Given the description of an element on the screen output the (x, y) to click on. 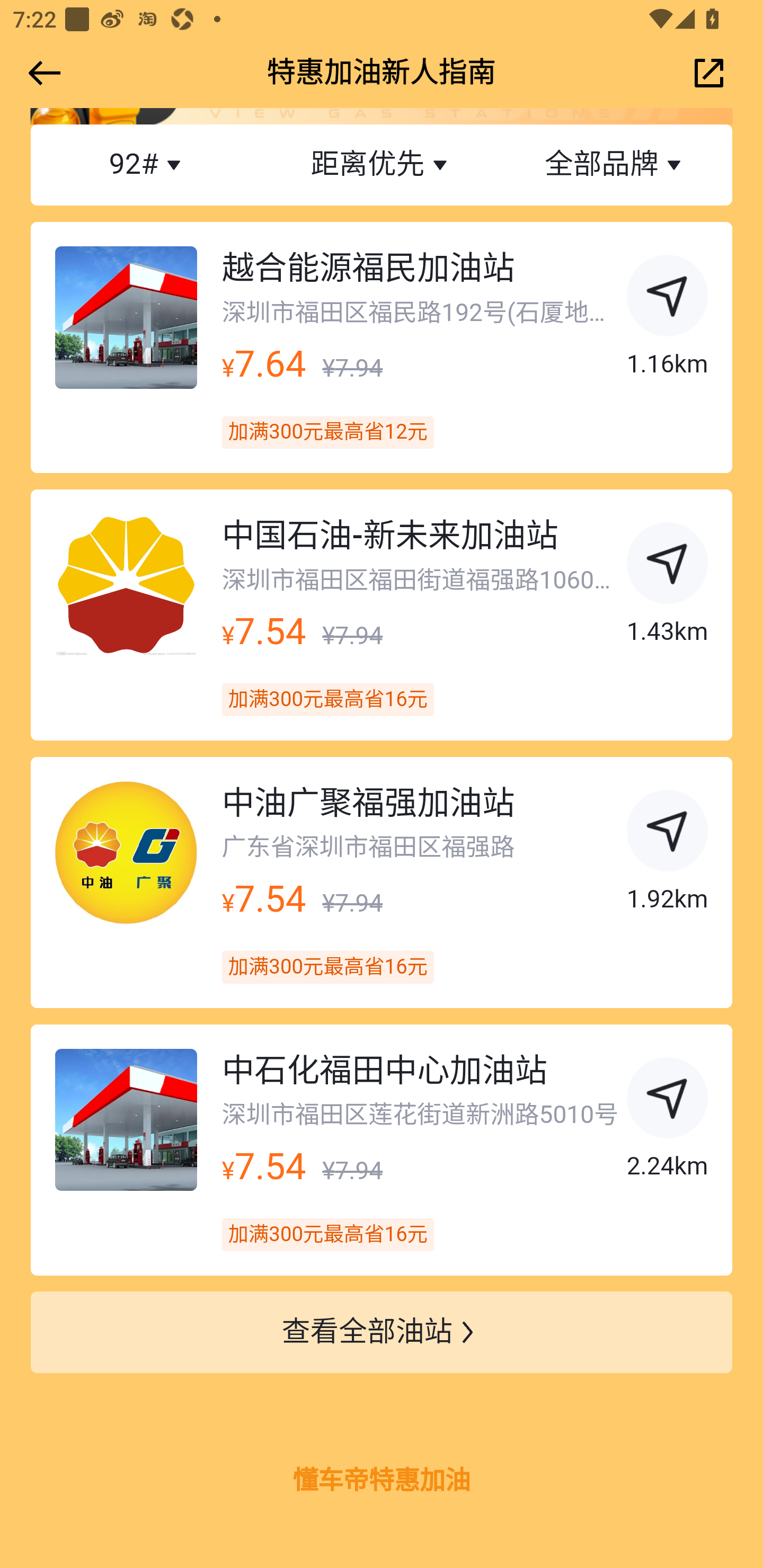
 (41, 72)
特惠加油新人指南 (381, 73)
92# (147, 164)
距离优先 (381, 164)
全部品牌 (614, 164)
ba197686b7094d8888a43cd739b47287~noop (667, 298)
ba197686b7094d8888a43cd739b47287~noop (667, 566)
ba197686b7094d8888a43cd739b47287~noop (667, 834)
ba197686b7094d8888a43cd739b47287~noop (667, 1101)
查看全部油站 (381, 1333)
